Given the description of an element on the screen output the (x, y) to click on. 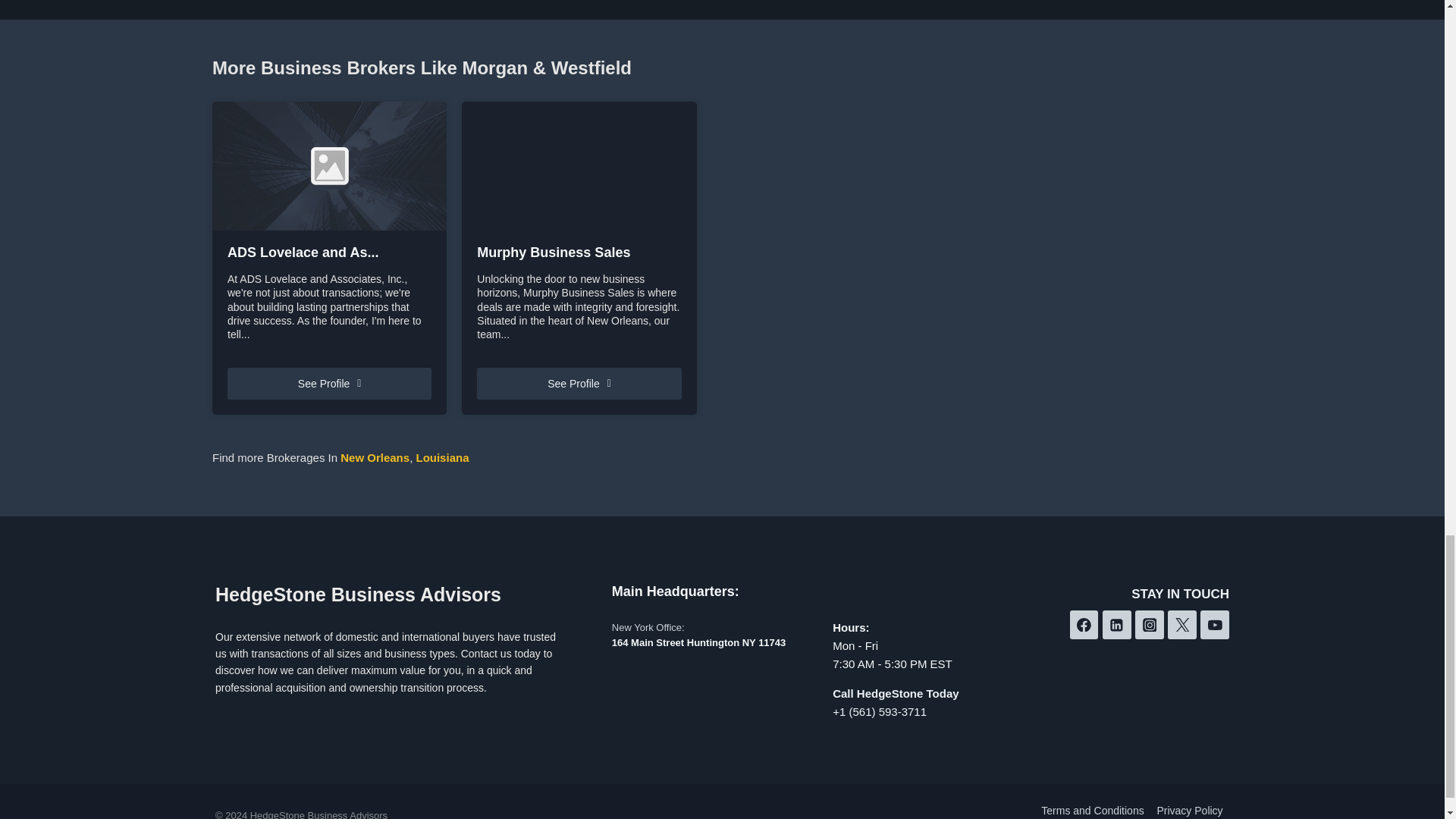
See Profile (328, 383)
New Orleans (374, 457)
ADS Lovelace and As... (328, 253)
Murphy Business Sales (579, 253)
See Profile (579, 383)
